Given the description of an element on the screen output the (x, y) to click on. 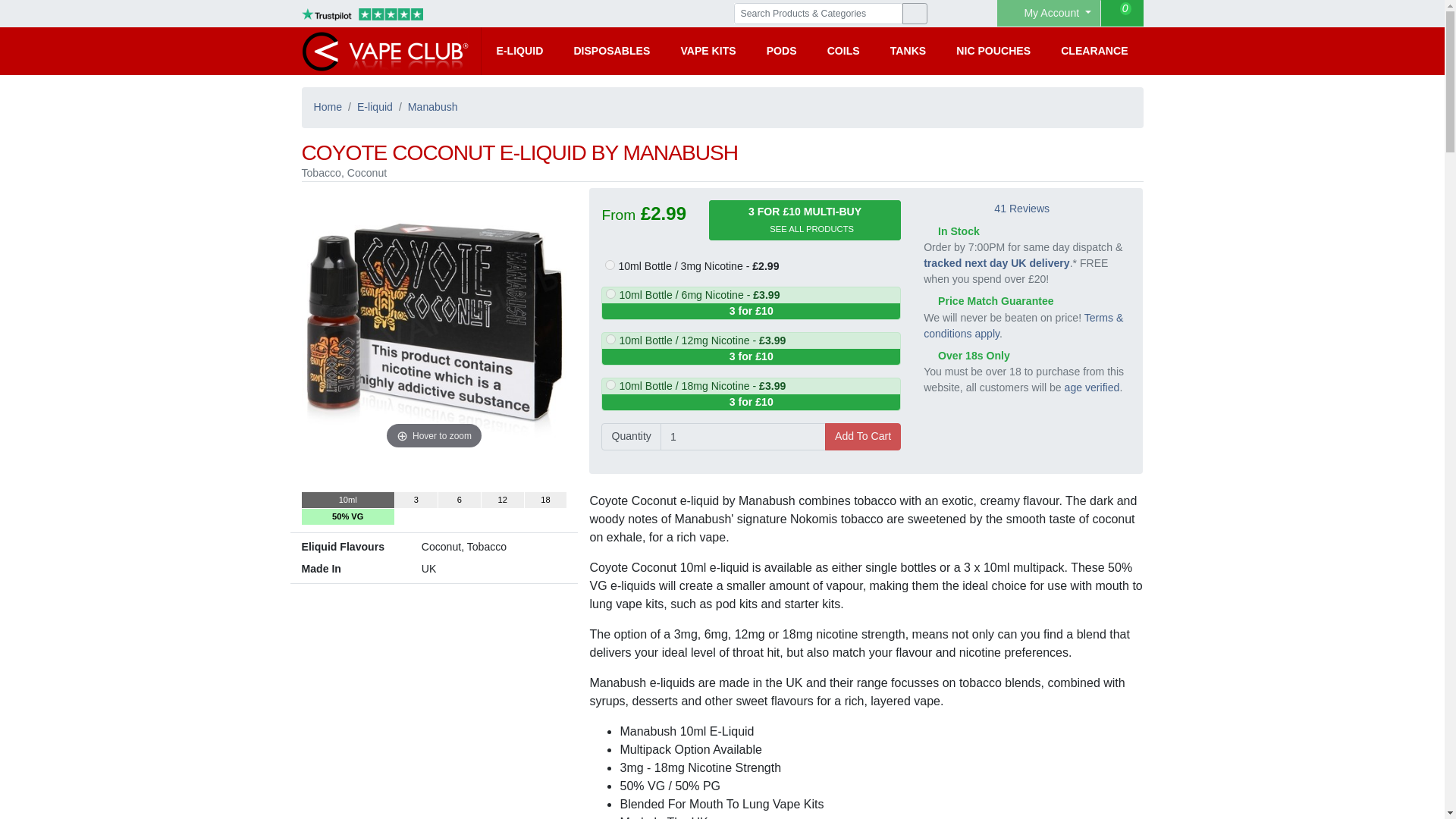
3218 (610, 384)
0 (1121, 13)
Vape Club Logo (384, 51)
10ml Bottle Size (347, 499)
Search (914, 13)
E-LIQUID (518, 51)
3217 (610, 338)
3215 (609, 265)
My Account (1048, 13)
1 (743, 436)
